Given the description of an element on the screen output the (x, y) to click on. 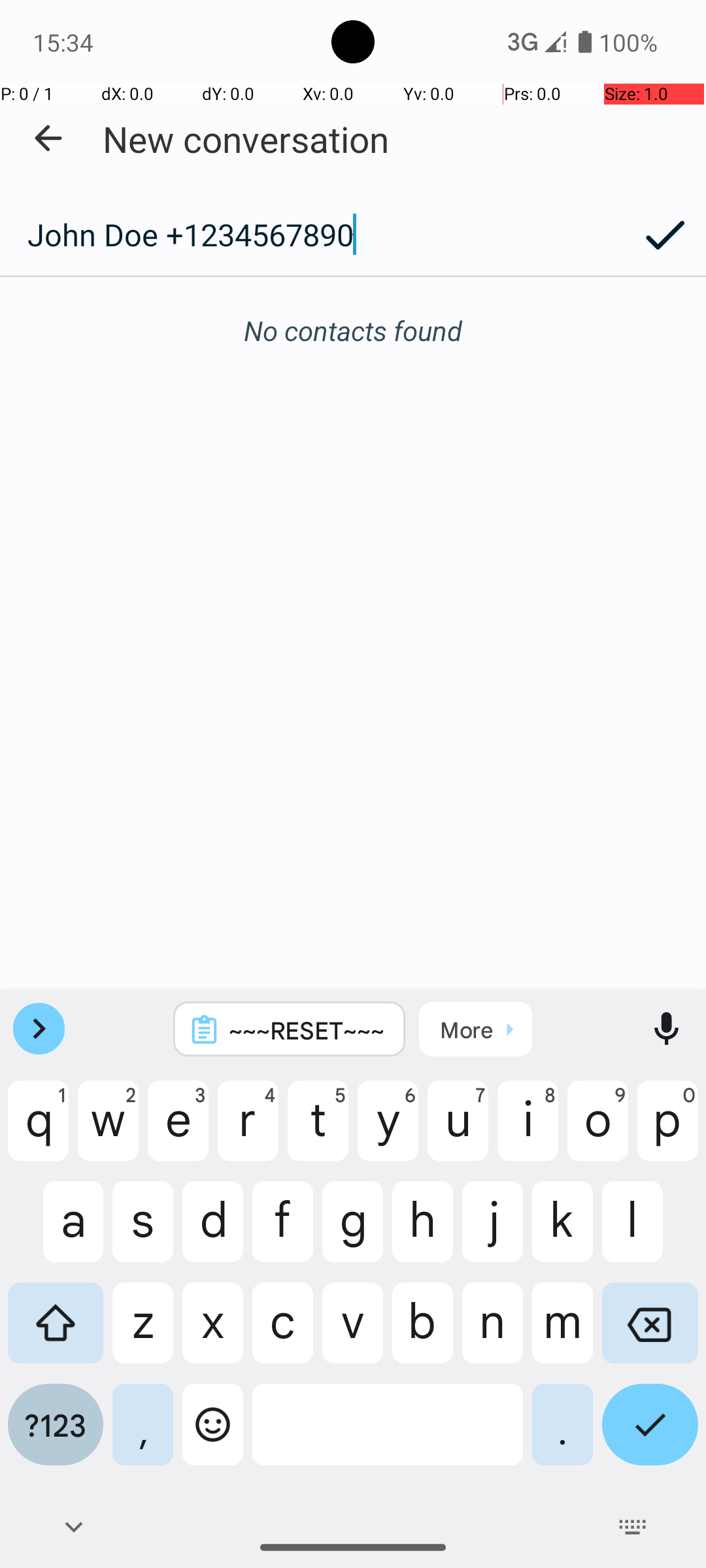
New conversation Element type: android.widget.TextView (245, 138)
John Doe +1234567890 Element type: android.widget.EditText (311, 234)
No contacts found Element type: android.widget.TextView (353, 329)
